Given the description of an element on the screen output the (x, y) to click on. 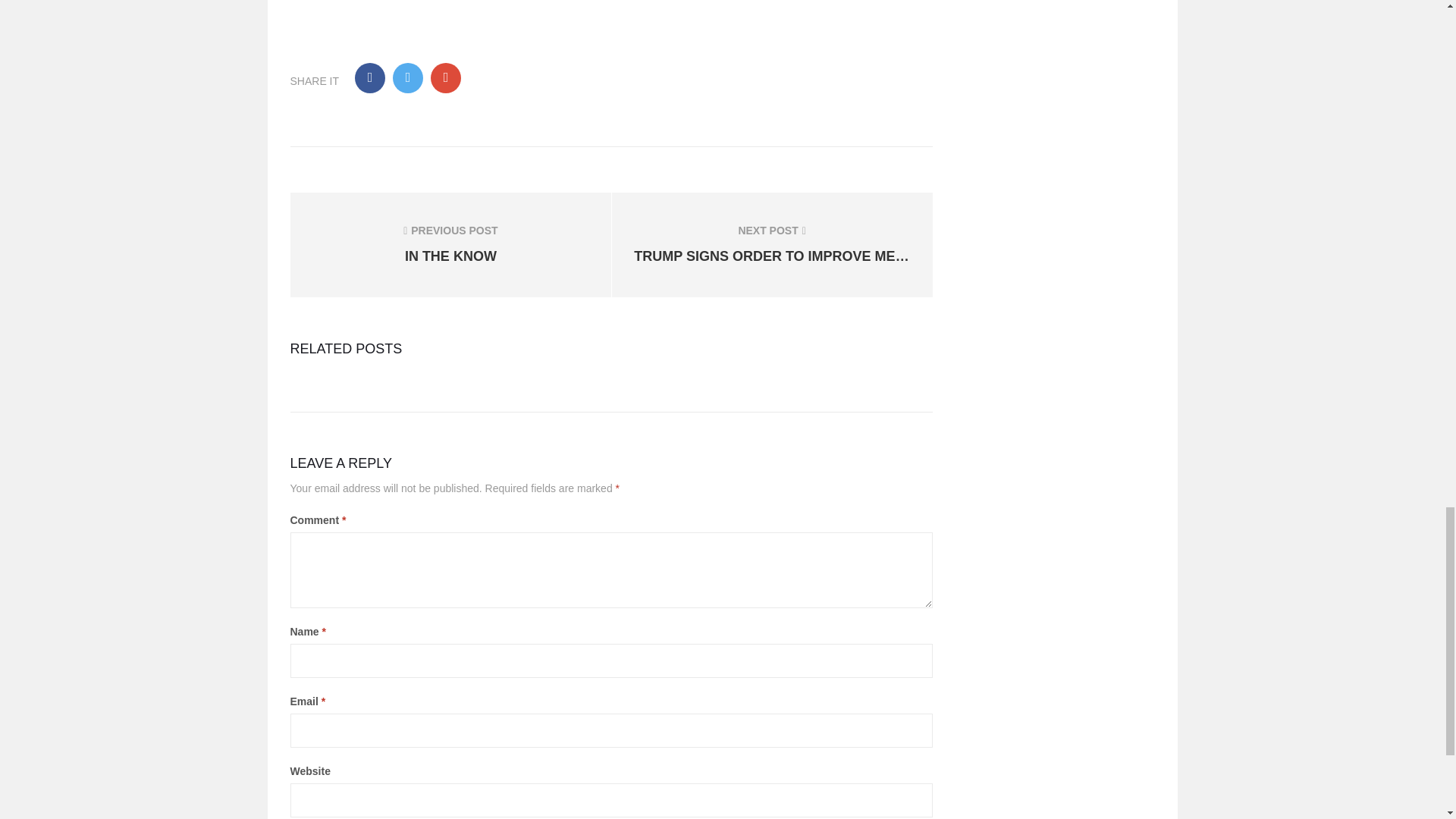
Share on Twitter (408, 78)
Share on Google Plus (445, 78)
Share on Facebook (450, 244)
